Given the description of an element on the screen output the (x, y) to click on. 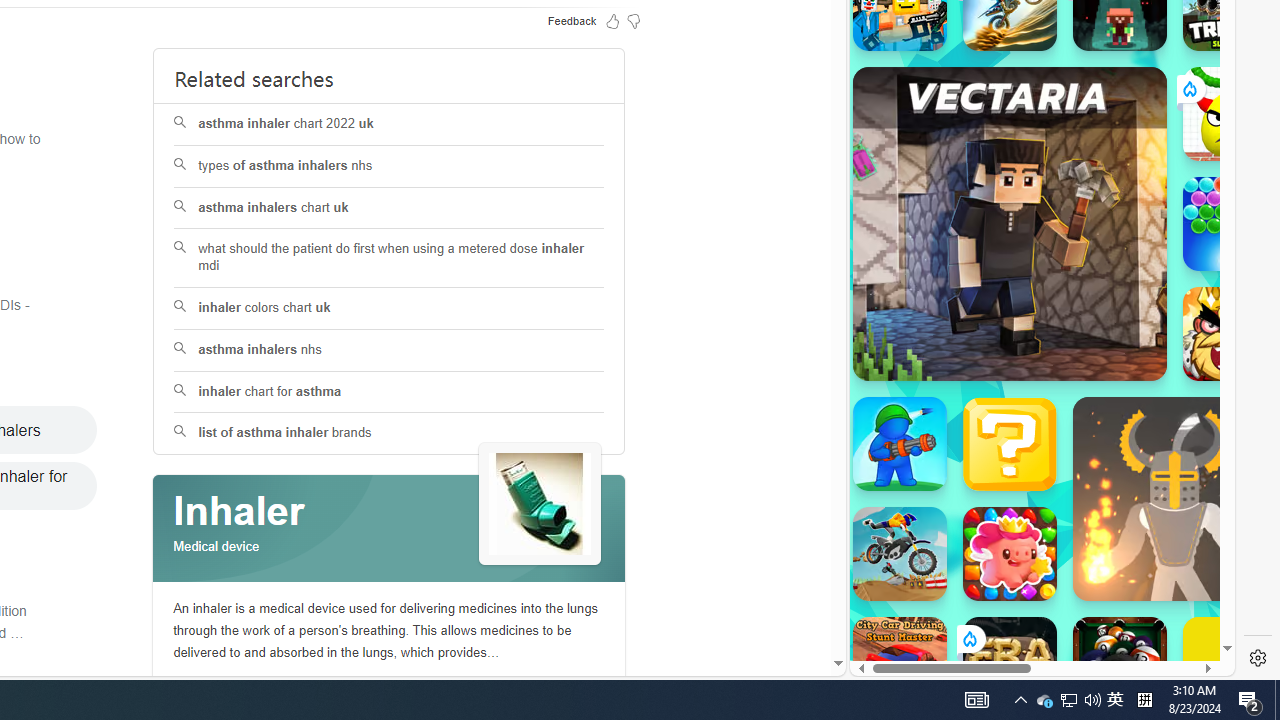
SUBWAY SURFERS - Play Online for Free! | Poki (1034, 624)
asthma inhalers nhs (389, 350)
Ragdoll Hit (1174, 498)
Hills of Steel Hills of Steel poki.com (943, 245)
Combat Reloaded (1090, 290)
Era: Evolution (1009, 664)
Match Arena Match Arena (1009, 553)
City Car Driving: Stunt Master (899, 664)
War Master War Master (899, 443)
Hills of Steel (925, 290)
